Given the description of an element on the screen output the (x, y) to click on. 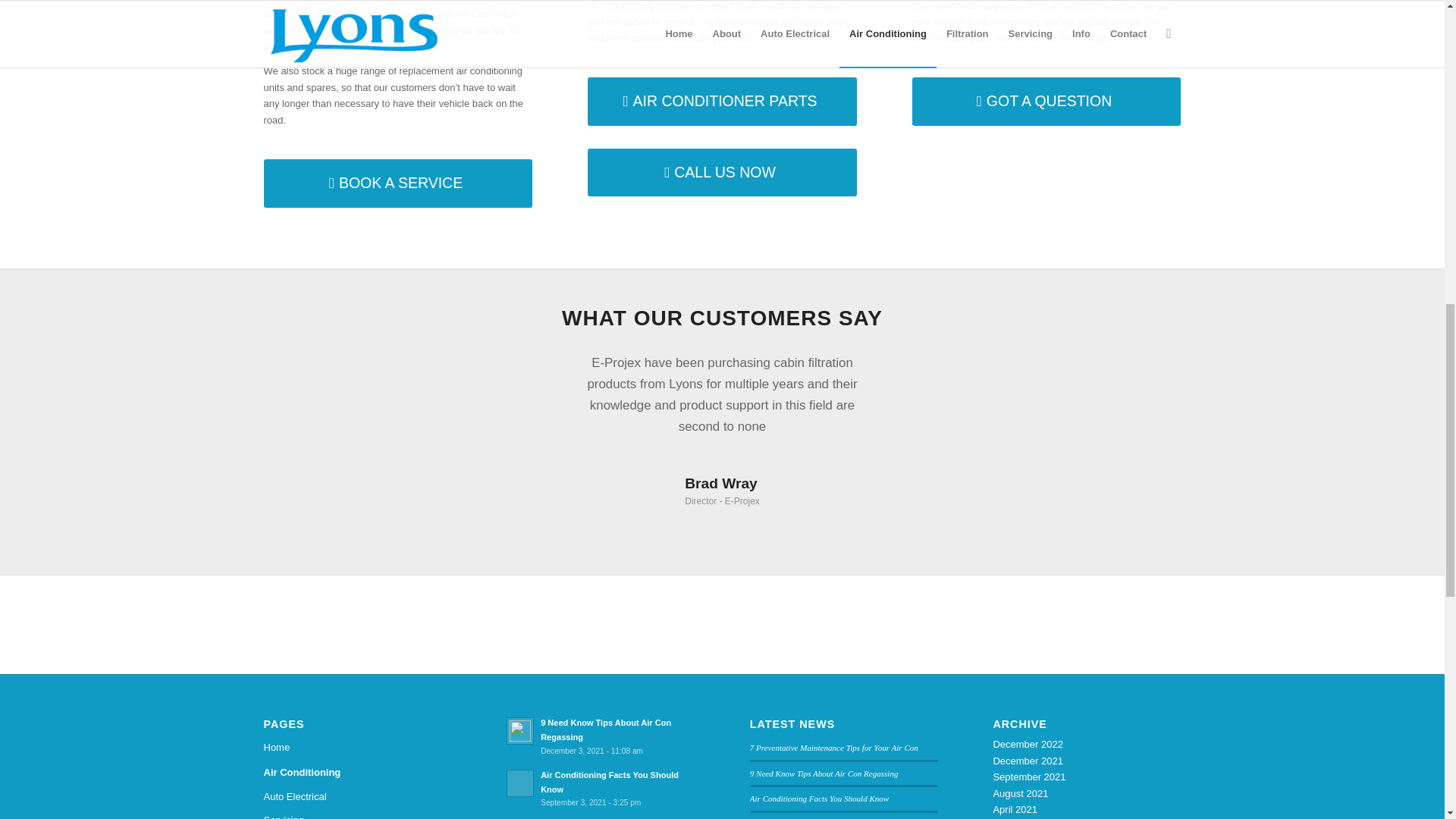
BOOK A SERVICE (397, 182)
Read: Air Conditioning Facts You Should Know (520, 782)
Read: 9 Need Know Tips About Air Con Regassing (605, 730)
Read: Air Conditioning Facts You Should Know (609, 781)
Read: 9 Need Know Tips About Air Con Regassing (520, 730)
